Given the description of an element on the screen output the (x, y) to click on. 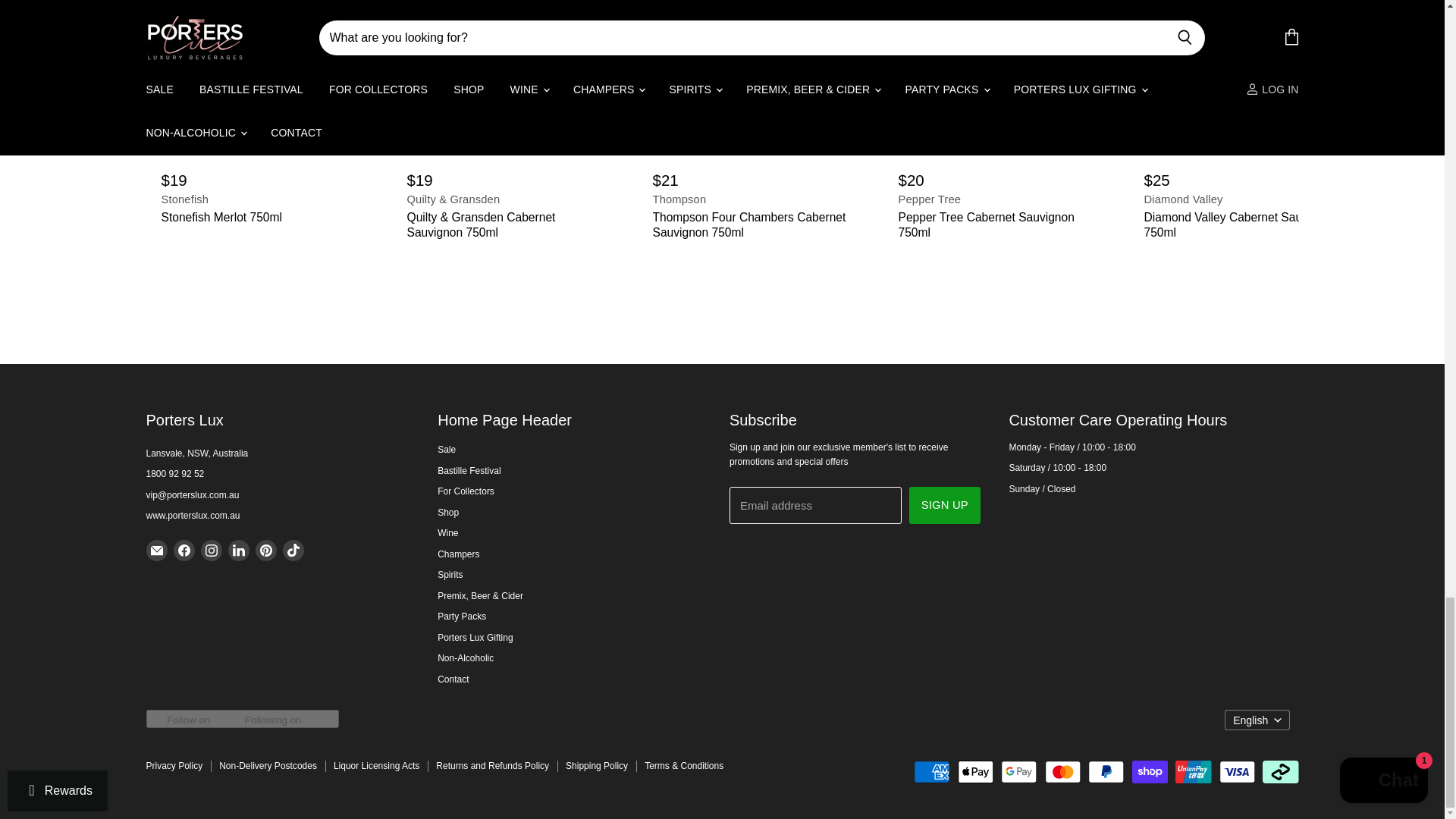
Thompson (749, 199)
Pepper Tree Cabernet Sauvignon 750ml (995, 224)
Diamond Valley (1240, 199)
Pepper Tree (995, 199)
Stonefish (258, 199)
Stonefish Merlot 750ml (258, 217)
Thompson Four Chambers Cabernet Sauvignon 750ml (749, 224)
Diamond Valley Cabernet Sauvignon 750ml (1240, 224)
